Given the description of an element on the screen output the (x, y) to click on. 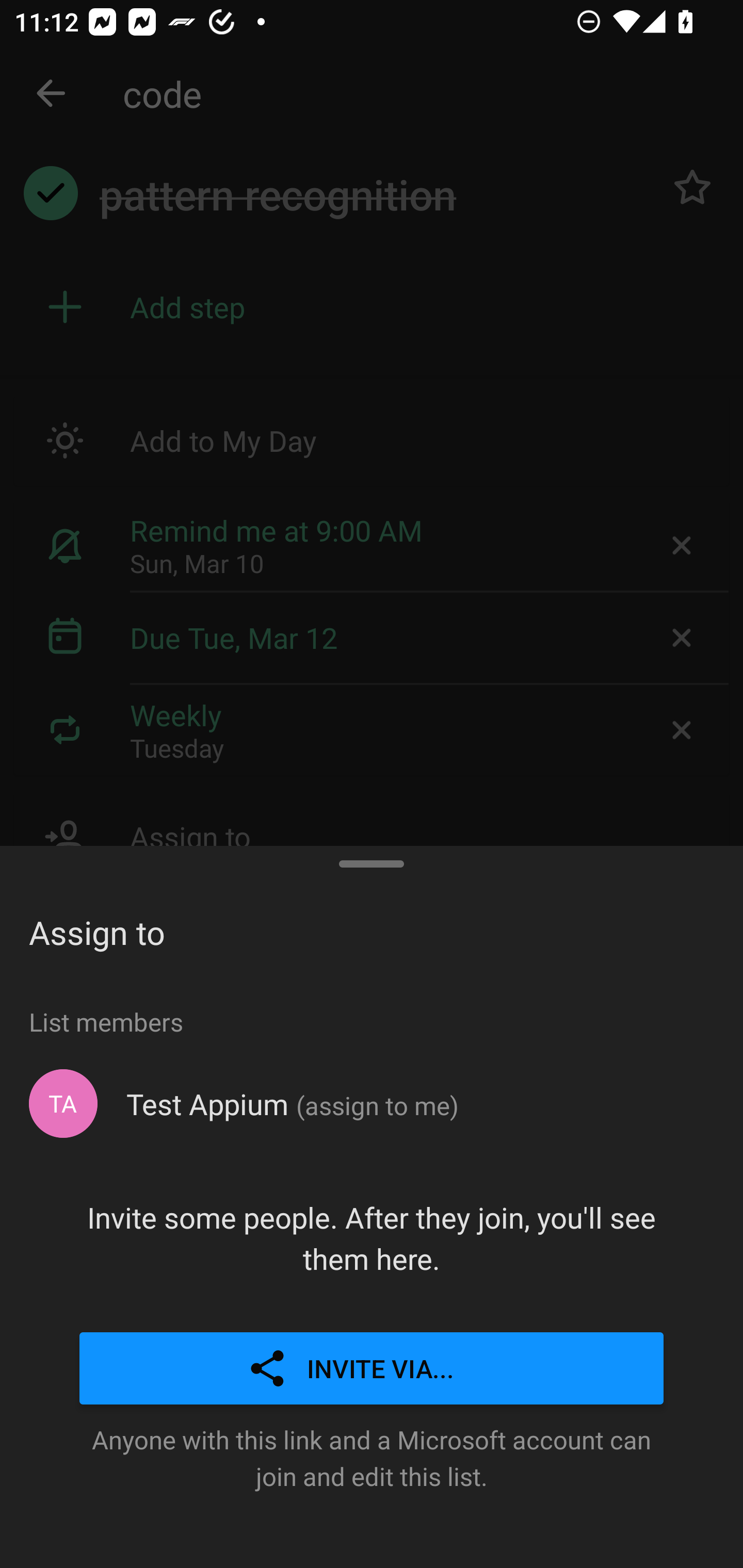
TA Test Appium (assign to me) (371, 1103)
INVITE VIA... (371, 1368)
